Given the description of an element on the screen output the (x, y) to click on. 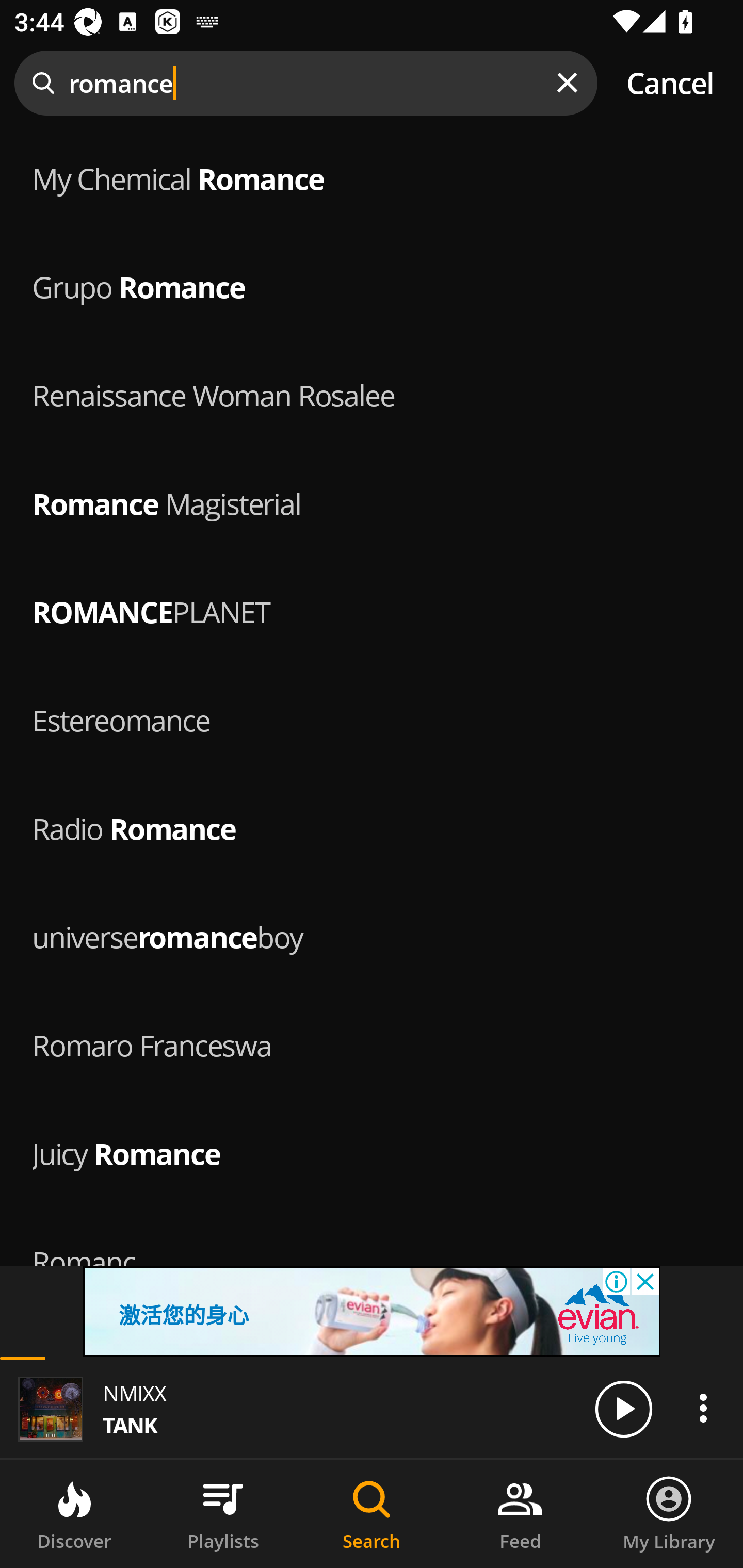
romance Cancel (371, 82)
Cancel (670, 82)
My Chemical Romance (371, 176)
All Country Afrosounds Pop Caribbean (371, 275)
Grupo Romance (371, 284)
Renaissance Woman Rosalee (371, 393)
Romance Magisterial (371, 502)
ROMANCEPLANET (371, 610)
Estereomance (371, 718)
Radio Romance (371, 827)
universeromanceboy (371, 935)
Romaro Franceswa (371, 1043)
Juicy Romance (371, 1151)
Romanc (371, 1259)
Actions (703, 1407)
Play/Pause (623, 1408)
Discover (74, 1513)
Playlists (222, 1513)
Search (371, 1513)
Feed (519, 1513)
My Library (668, 1513)
